Given the description of an element on the screen output the (x, y) to click on. 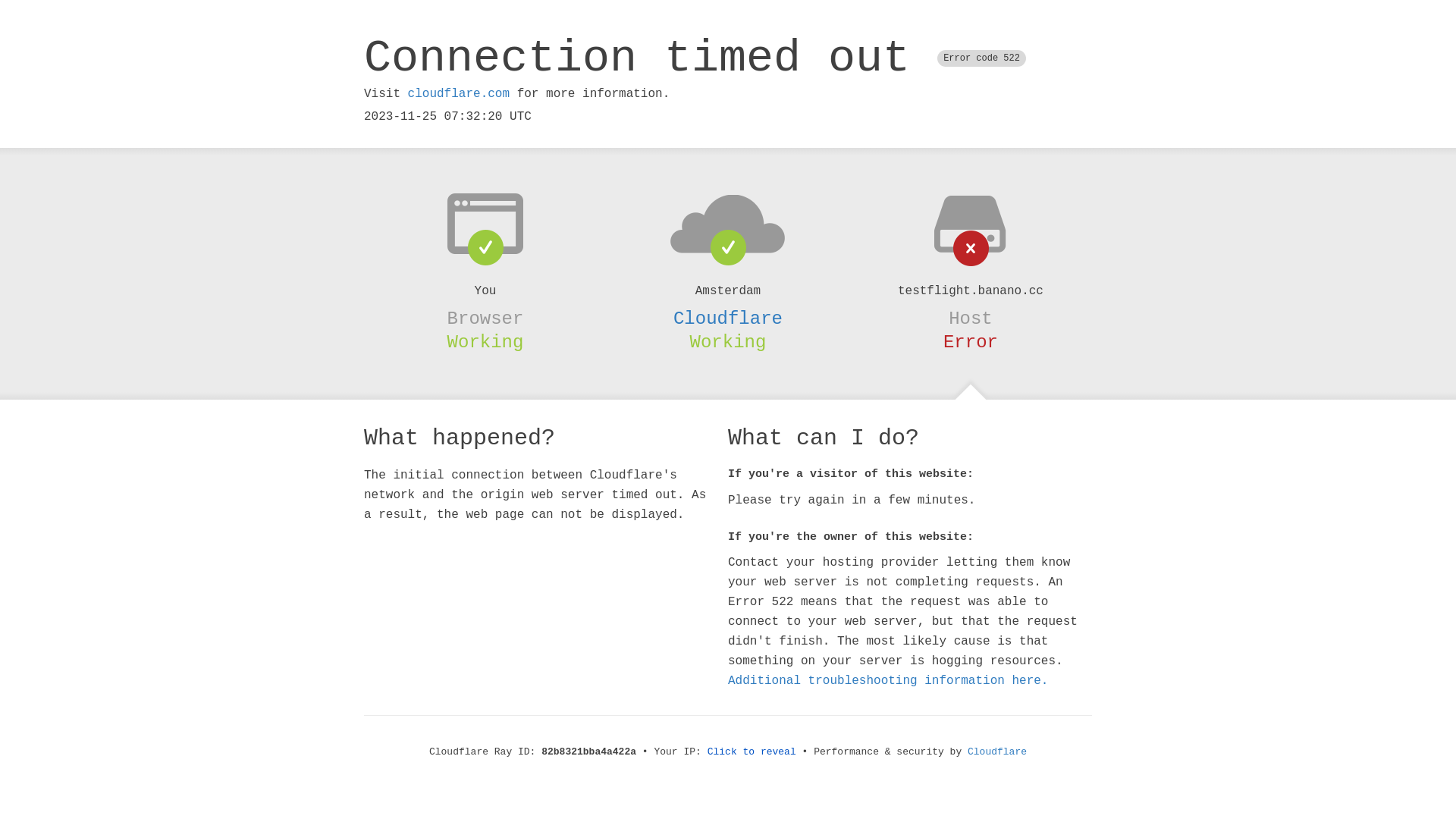
Click to reveal Element type: text (751, 751)
cloudflare.com Element type: text (458, 93)
Cloudflare Element type: text (996, 751)
Additional troubleshooting information here. Element type: text (888, 680)
Cloudflare Element type: text (727, 318)
